Given the description of an element on the screen output the (x, y) to click on. 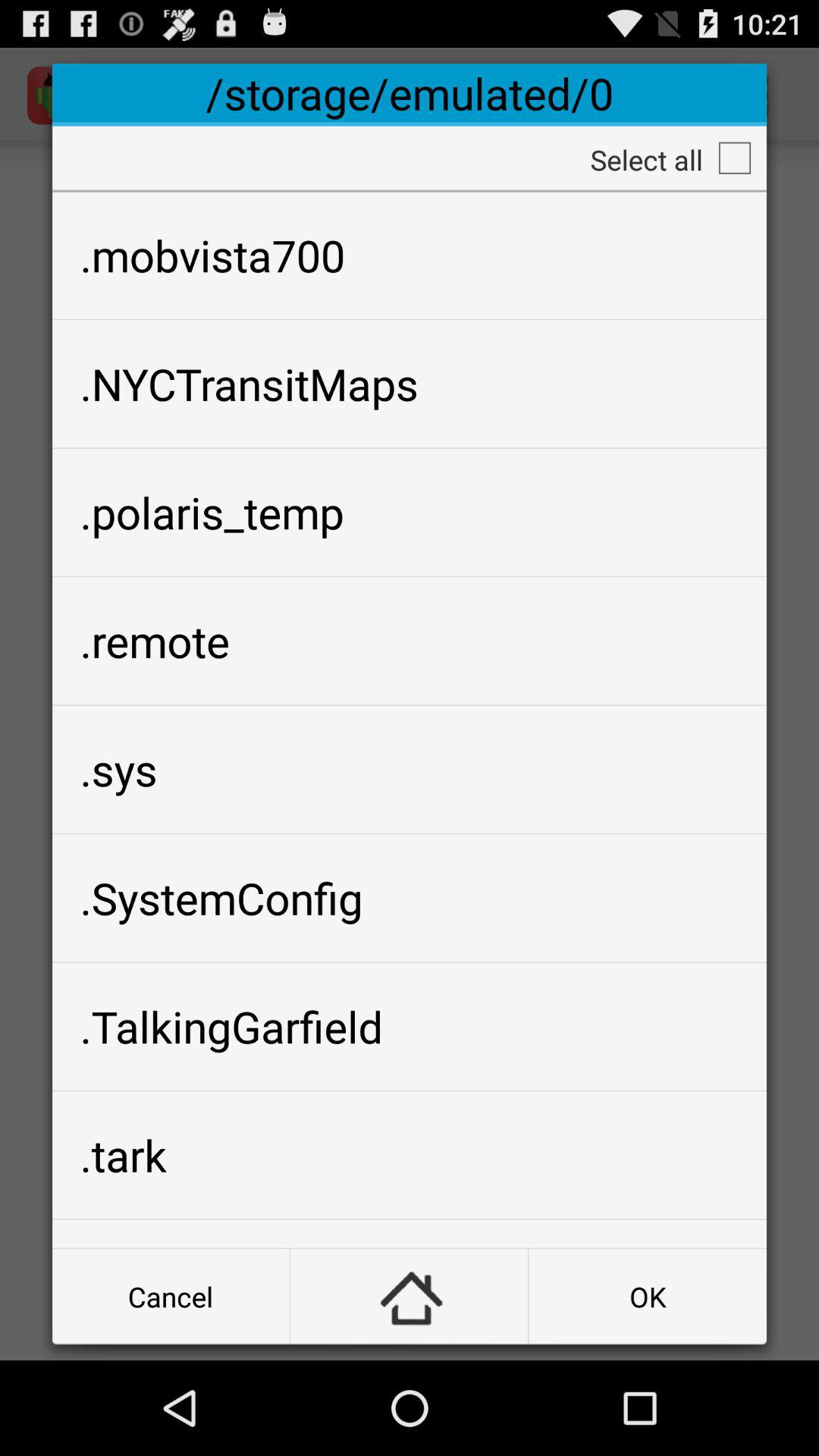
toggle select all (734, 157)
